Given the description of an element on the screen output the (x, y) to click on. 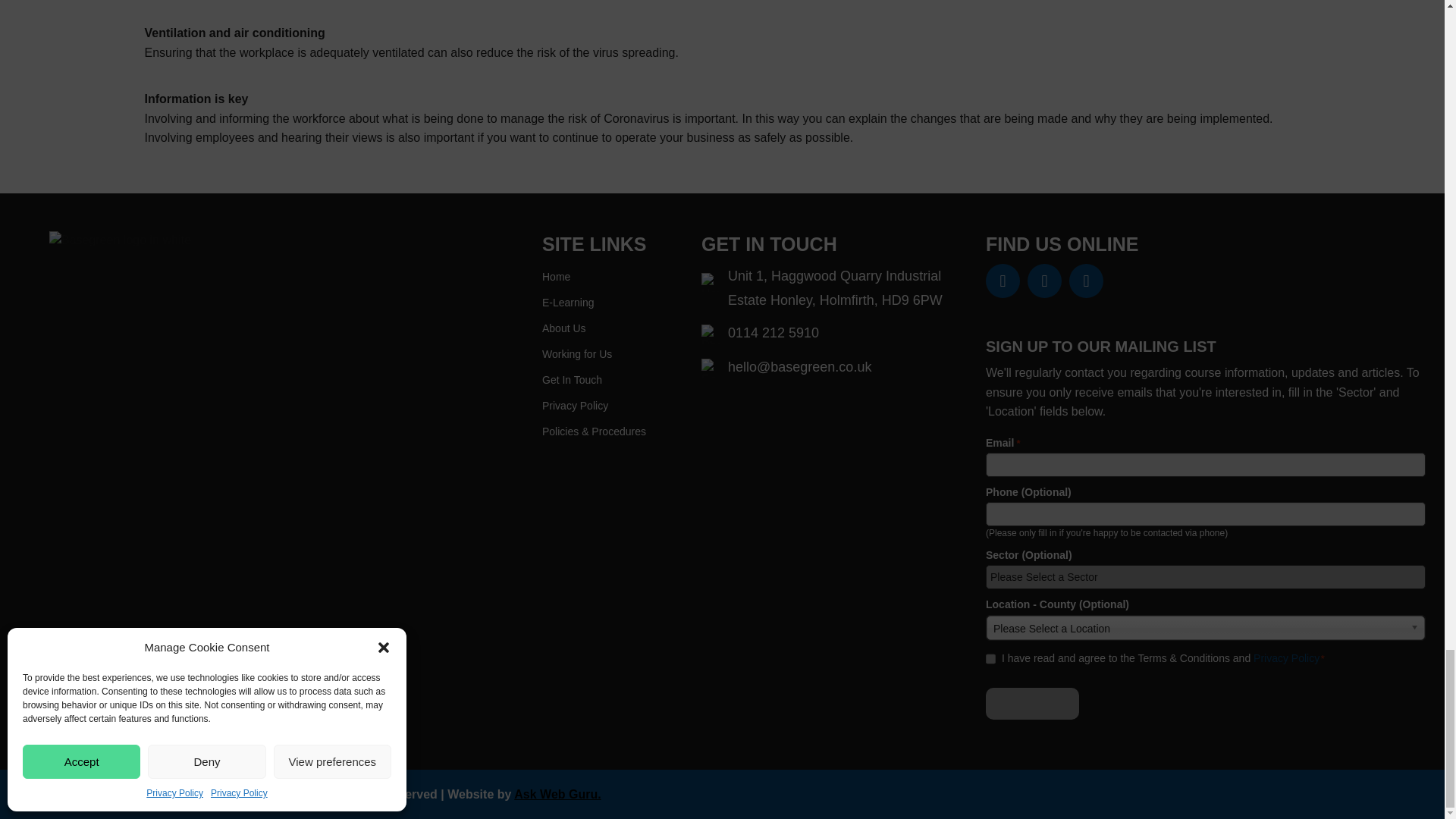
Submit (1031, 703)
